Given the description of an element on the screen output the (x, y) to click on. 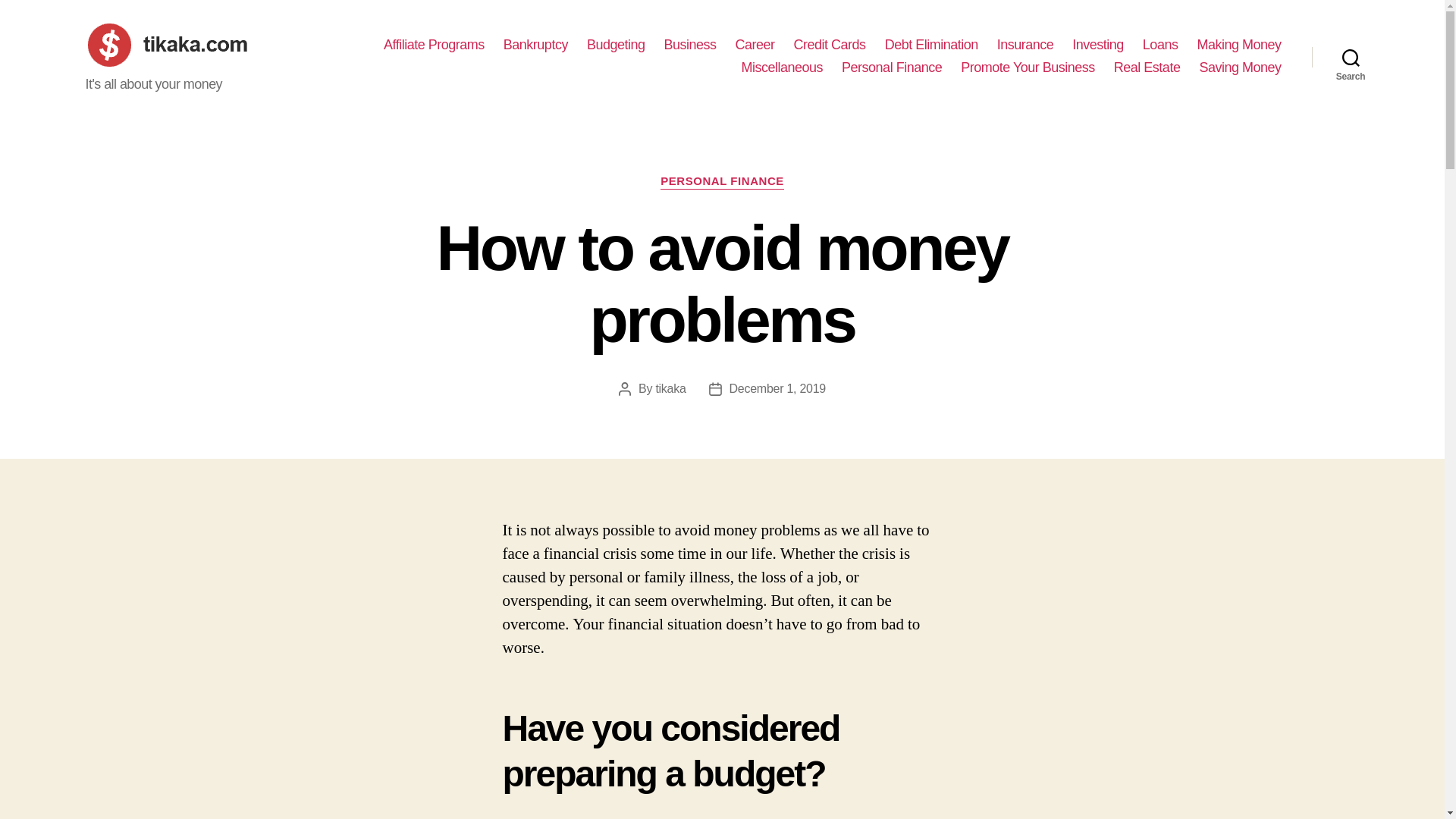
Promote Your Business (1027, 67)
Debt Elimination (931, 45)
Career (754, 45)
Bankruptcy (535, 45)
Making Money (1238, 45)
Credit Cards (829, 45)
Personal Finance (891, 67)
Loans (1159, 45)
Real Estate (1146, 67)
Search (1350, 56)
